Given the description of an element on the screen output the (x, y) to click on. 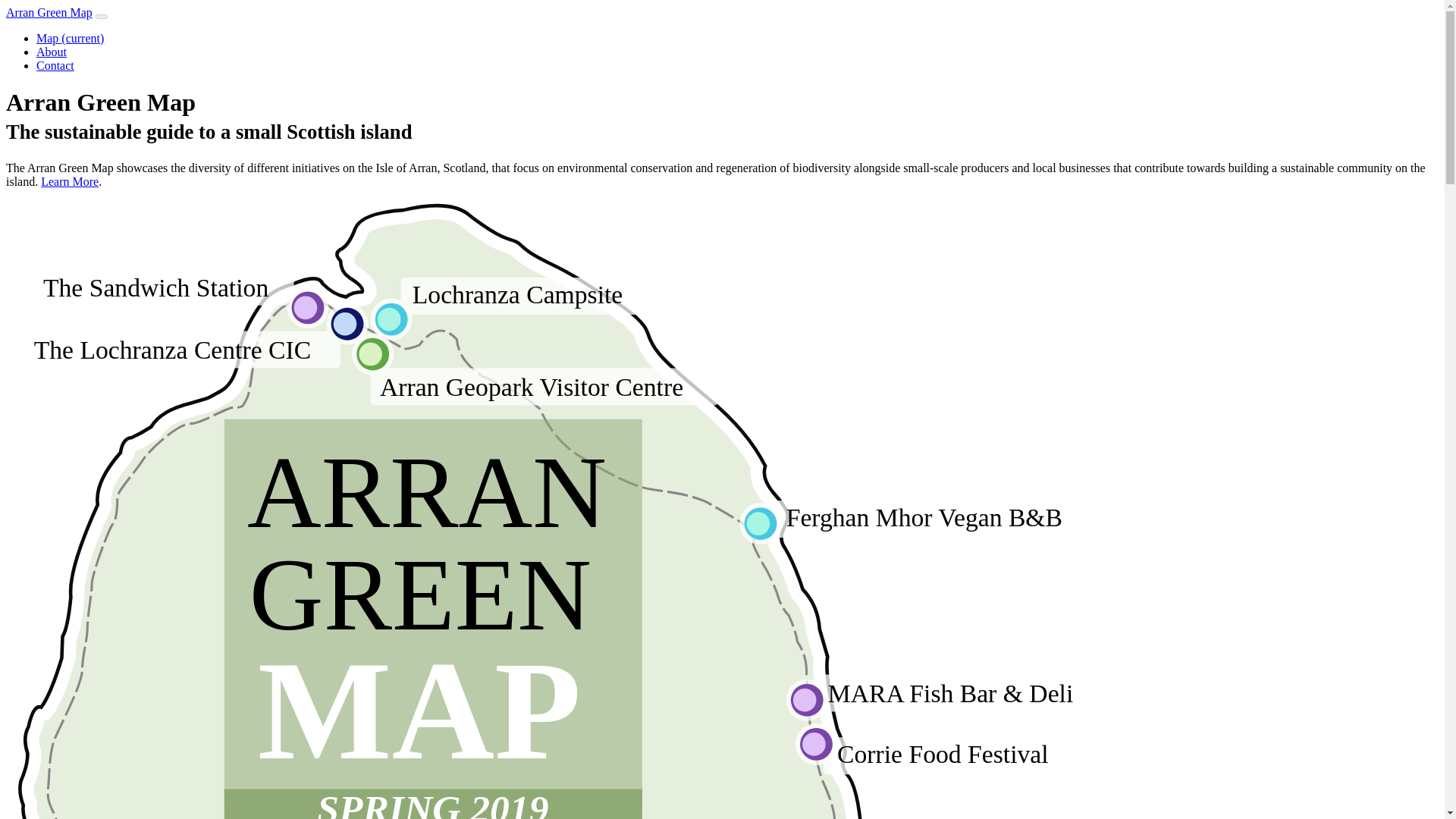
Contact (55, 65)
Learn More (69, 181)
About (51, 51)
Arran Green Map (49, 11)
